Given the description of an element on the screen output the (x, y) to click on. 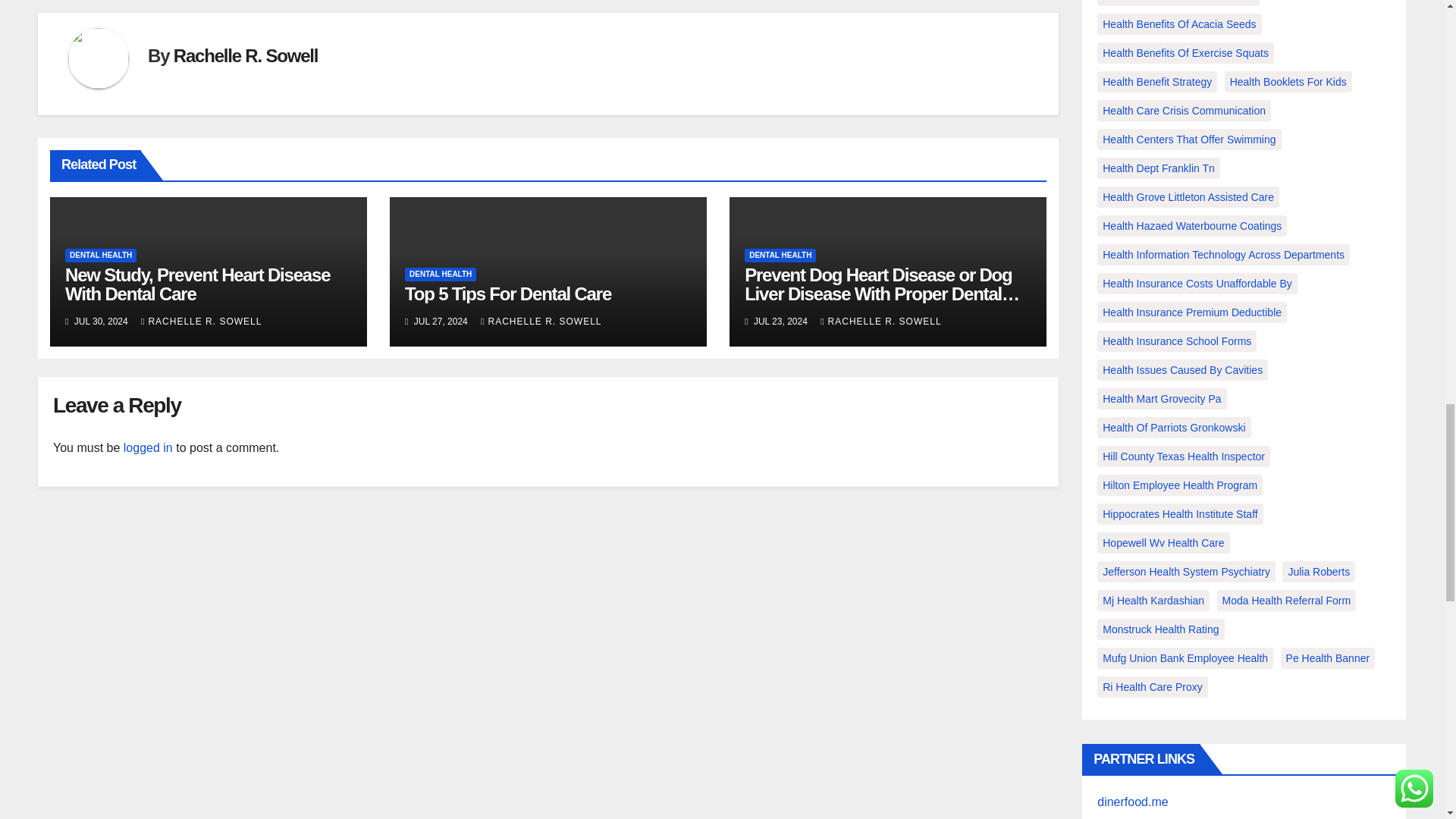
DENTAL HEALTH (100, 255)
New Study, Prevent Heart Disease With Dental Care (197, 283)
Rachelle R. Sowell (245, 55)
Permalink to: Top 5 Tips For Dental Care (507, 293)
